Given the description of an element on the screen output the (x, y) to click on. 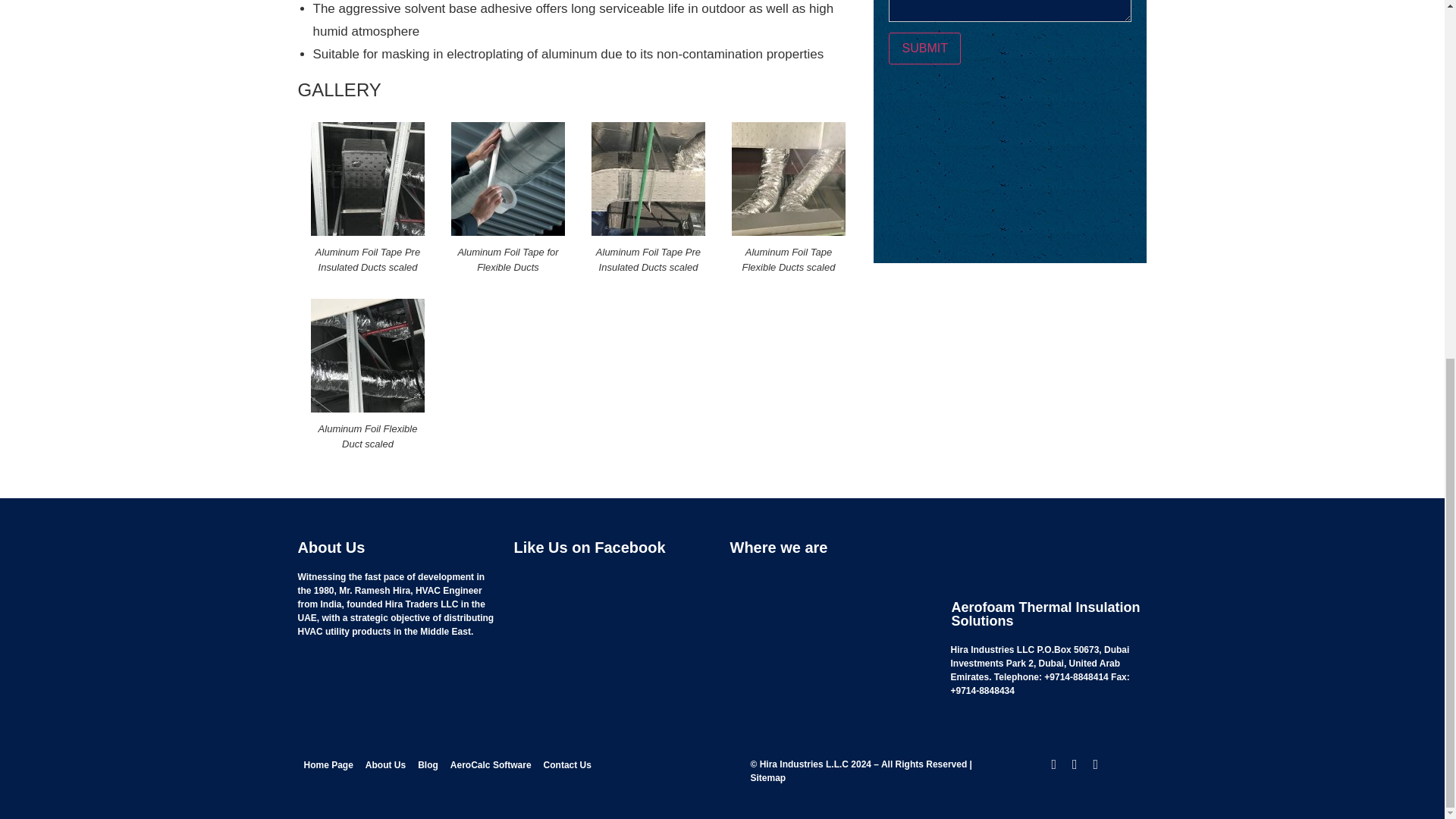
SUBMIT (923, 48)
